Given the description of an element on the screen output the (x, y) to click on. 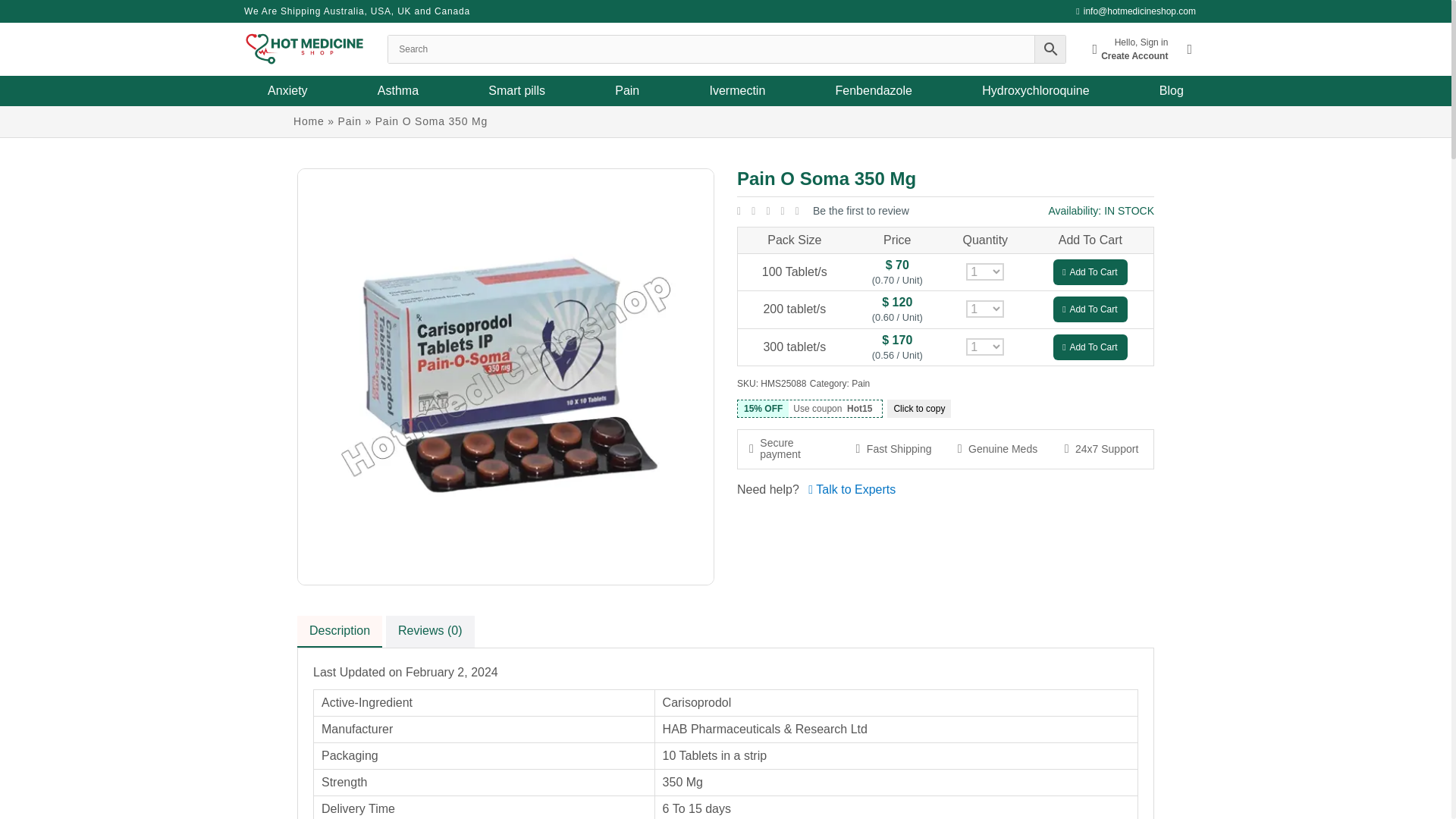
Qty (985, 308)
Add to cart (1089, 309)
Add to cart (1089, 272)
Qty (985, 346)
Qty (985, 271)
Product Availability (1101, 211)
Add to cart (1089, 347)
